Given the description of an element on the screen output the (x, y) to click on. 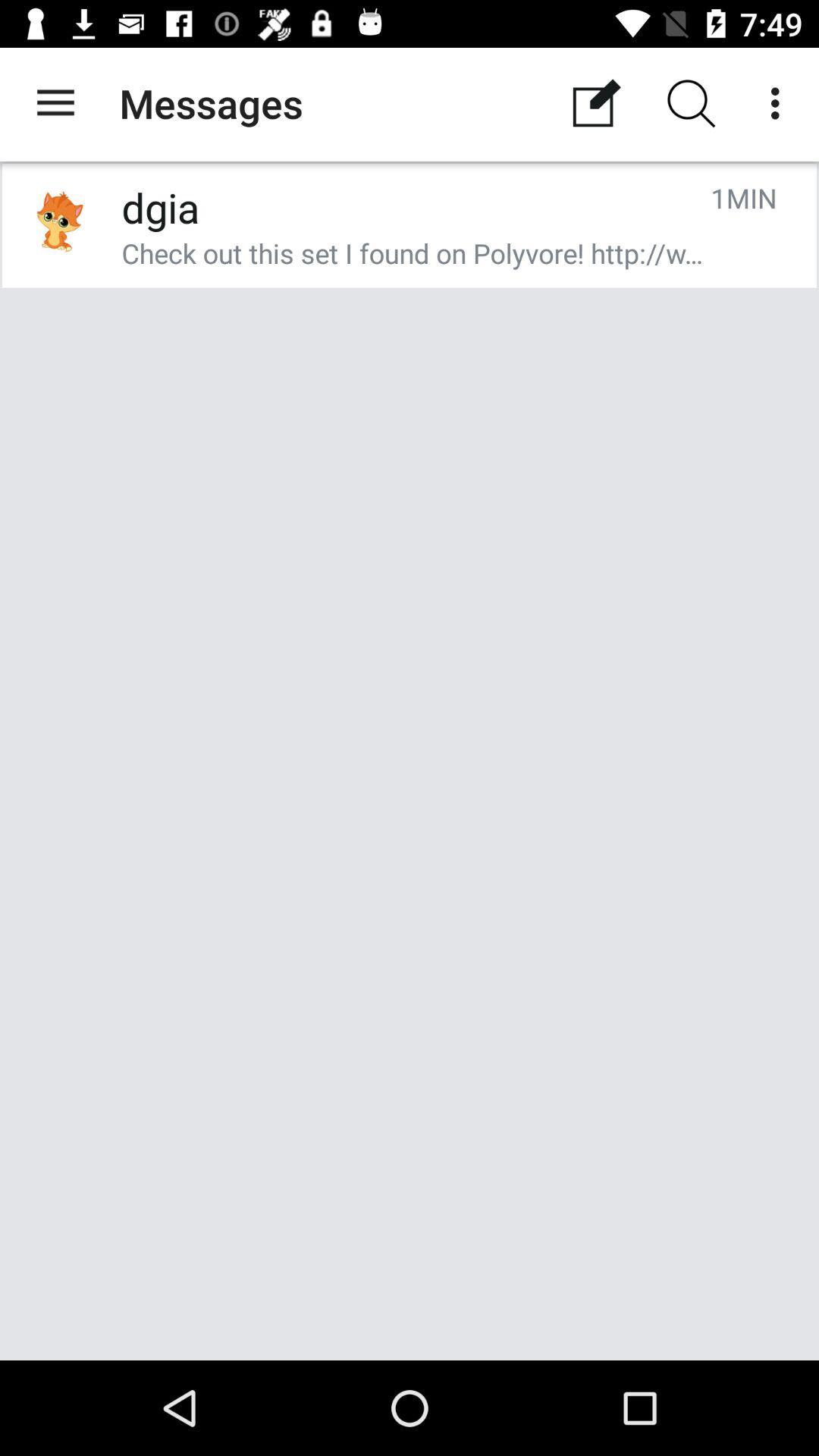
turn off app to the right of the messages app (595, 103)
